Given the description of an element on the screen output the (x, y) to click on. 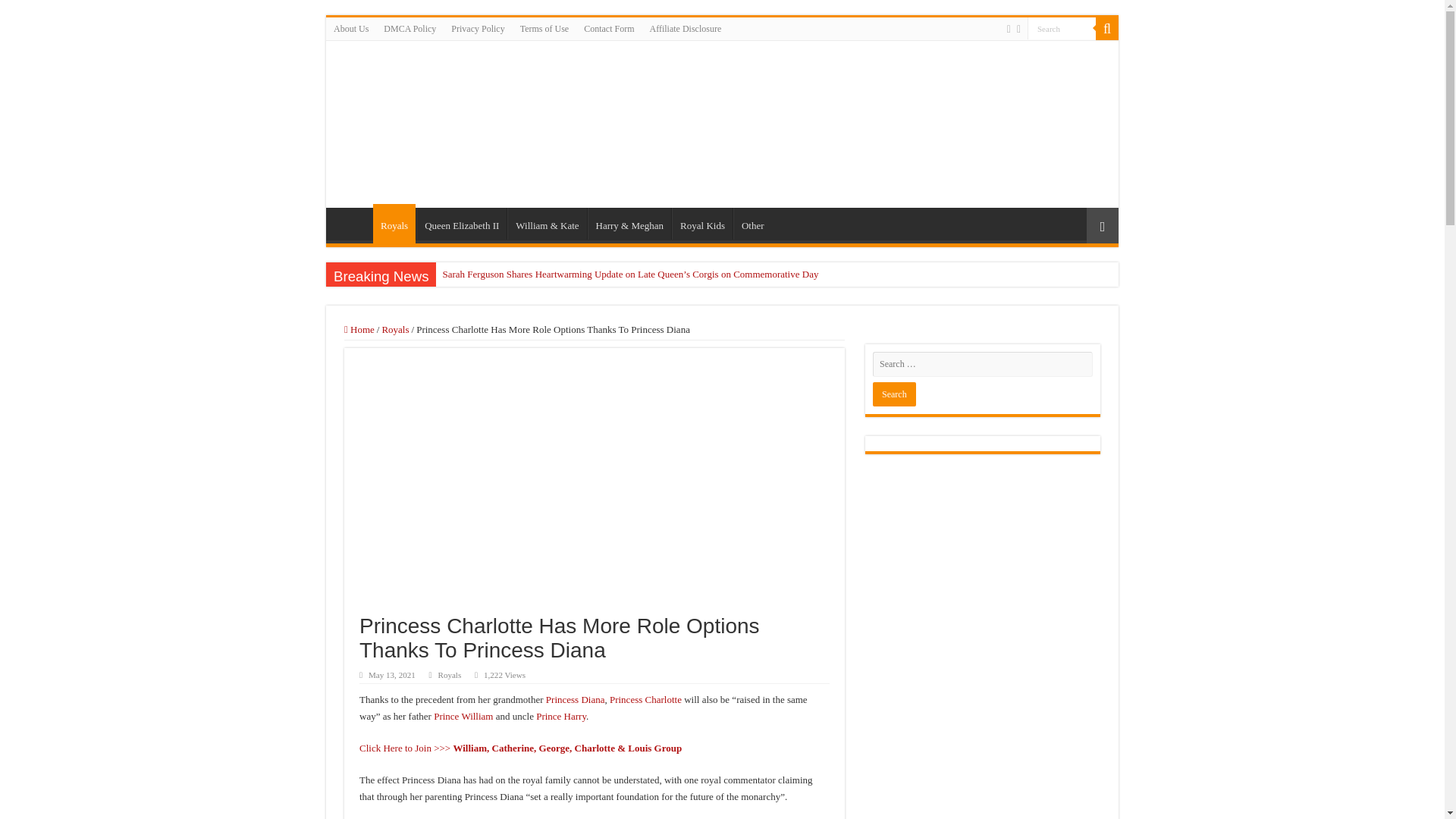
Other (752, 223)
Search (1061, 28)
DMCA Policy (409, 28)
Princess Charlotte (645, 699)
Privacy Policy (478, 28)
Royals (395, 328)
The Royal Story (450, 121)
Random Article (1102, 225)
About Us (350, 28)
Terms of Use (544, 28)
